Given the description of an element on the screen output the (x, y) to click on. 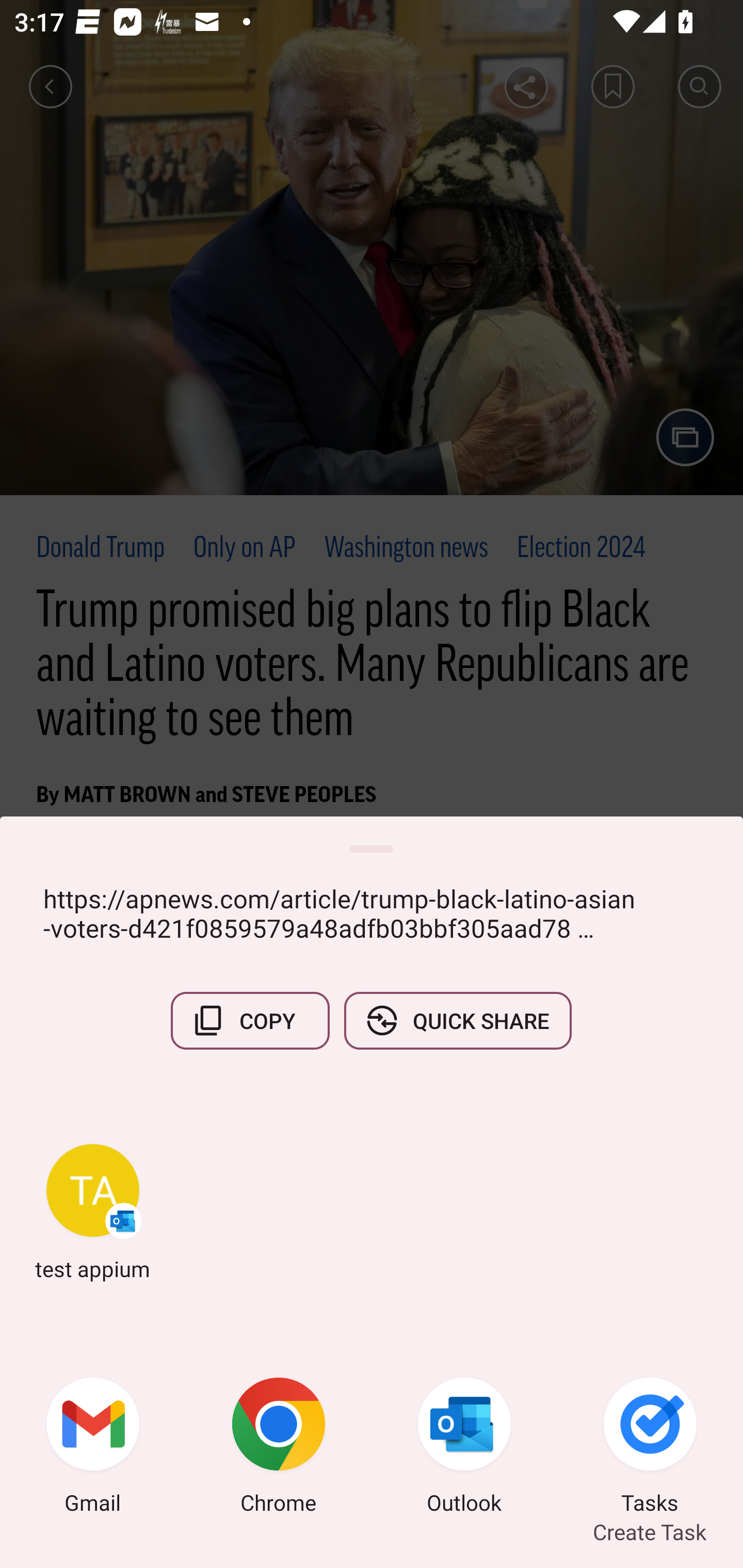
COPY (249, 1020)
QUICK SHARE (457, 1020)
test appium  Outlook test appium (92, 1212)
Gmail (92, 1448)
Chrome (278, 1448)
Outlook (464, 1448)
Tasks Create Task (650, 1448)
